Given the description of an element on the screen output the (x, y) to click on. 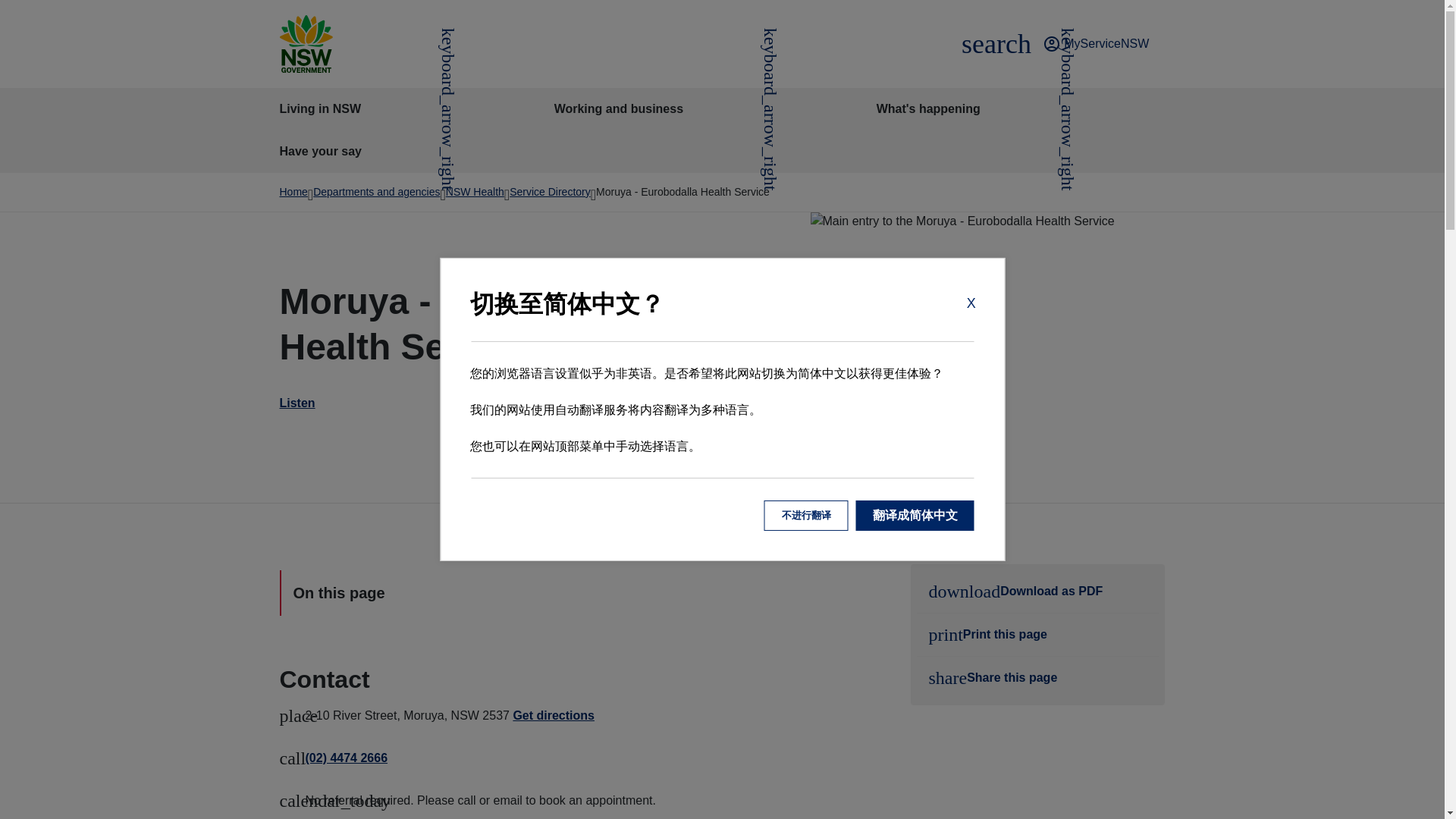
Listen to this page using ReadSpeaker webReader (494, 402)
MyServiceNSW (1096, 43)
